Given the description of an element on the screen output the (x, y) to click on. 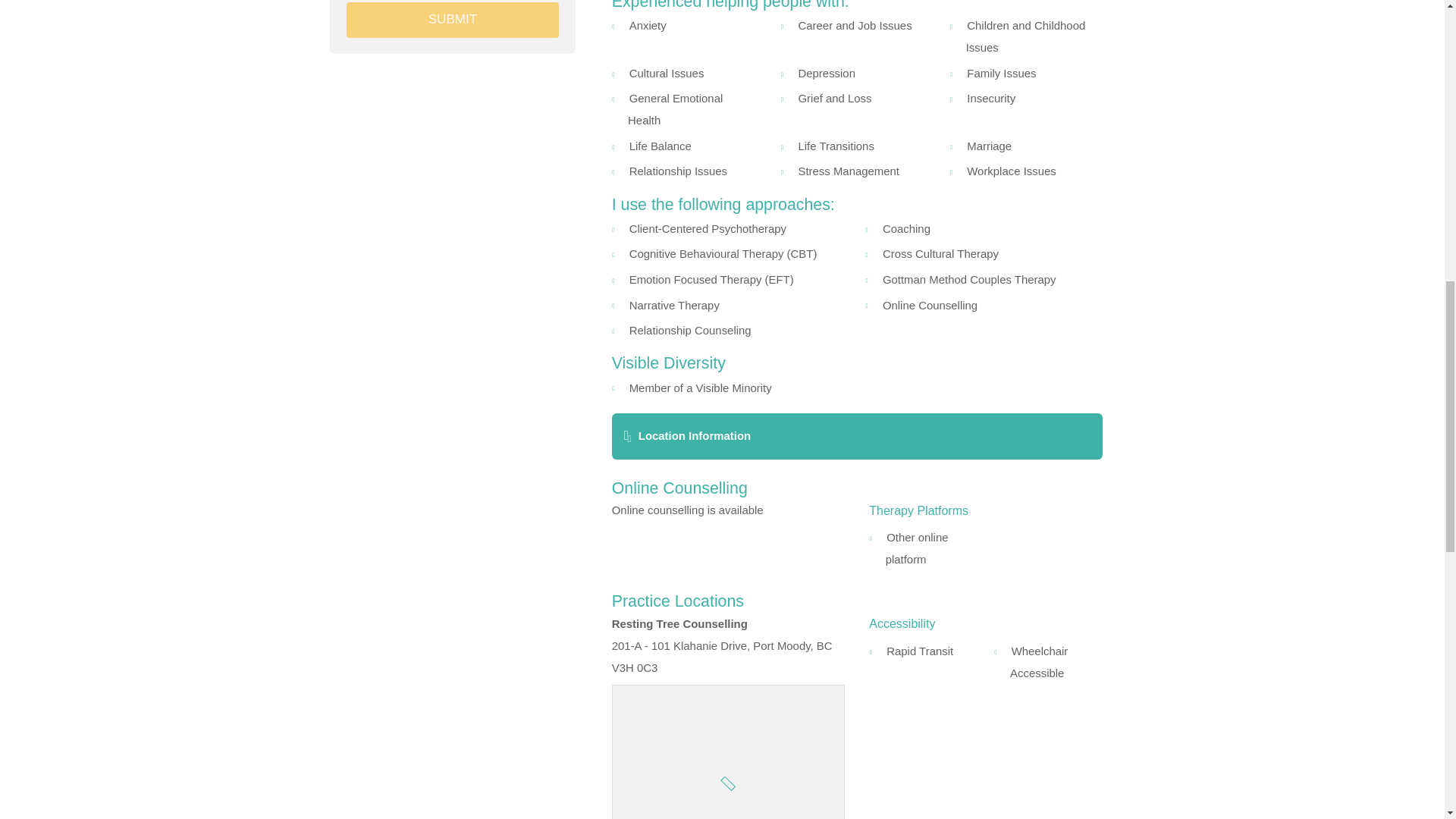
Location Information (856, 436)
SUBMIT (452, 19)
